Given the description of an element on the screen output the (x, y) to click on. 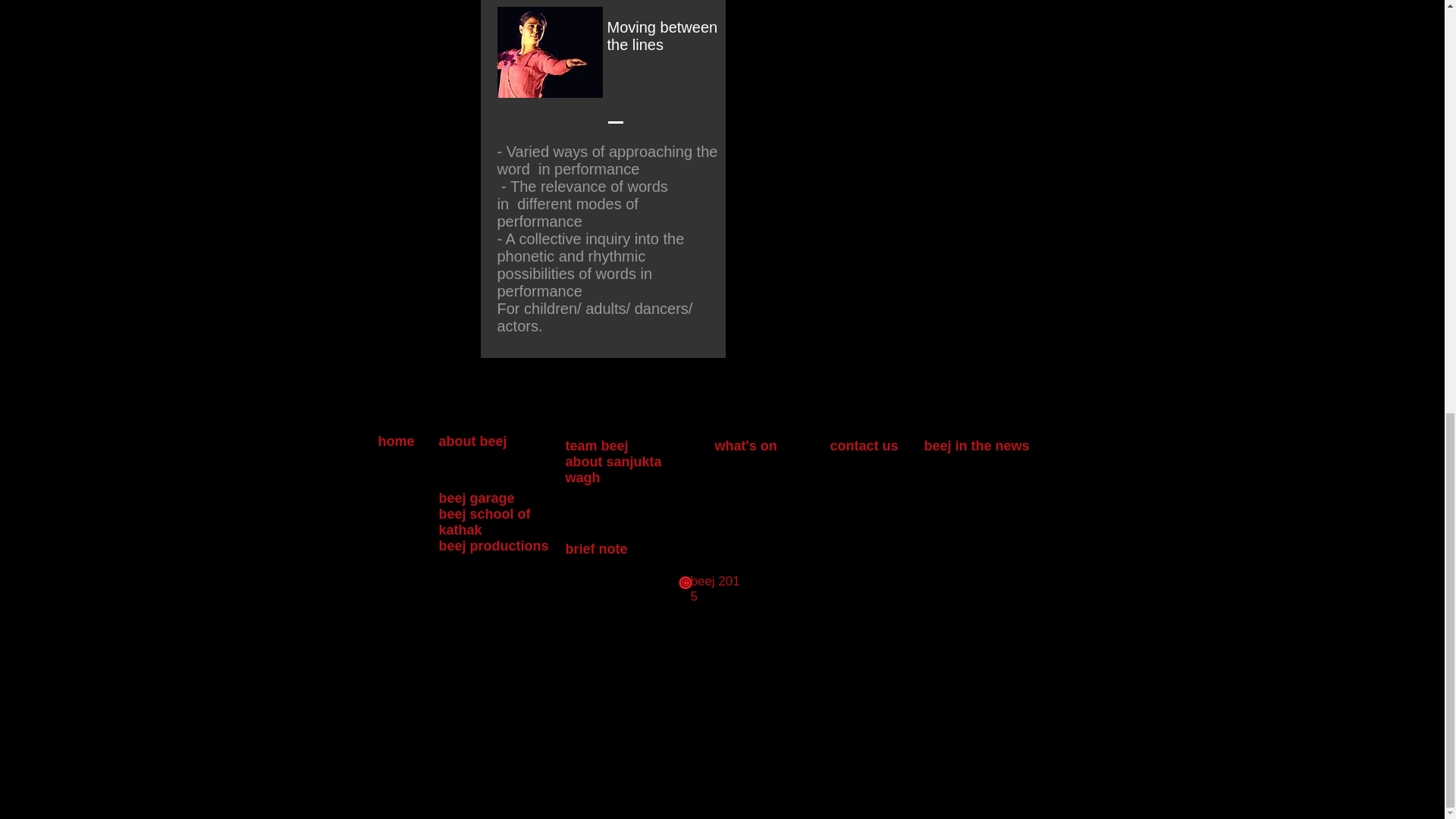
beej school of kathak (483, 521)
beej garage (475, 498)
about beej (472, 441)
home  (397, 441)
beej in the news (976, 445)
team beej (597, 445)
brief note (596, 548)
what's on  (747, 445)
about sanjukta wagh (614, 469)
contact us (863, 445)
beej productions (493, 545)
